Given the description of an element on the screen output the (x, y) to click on. 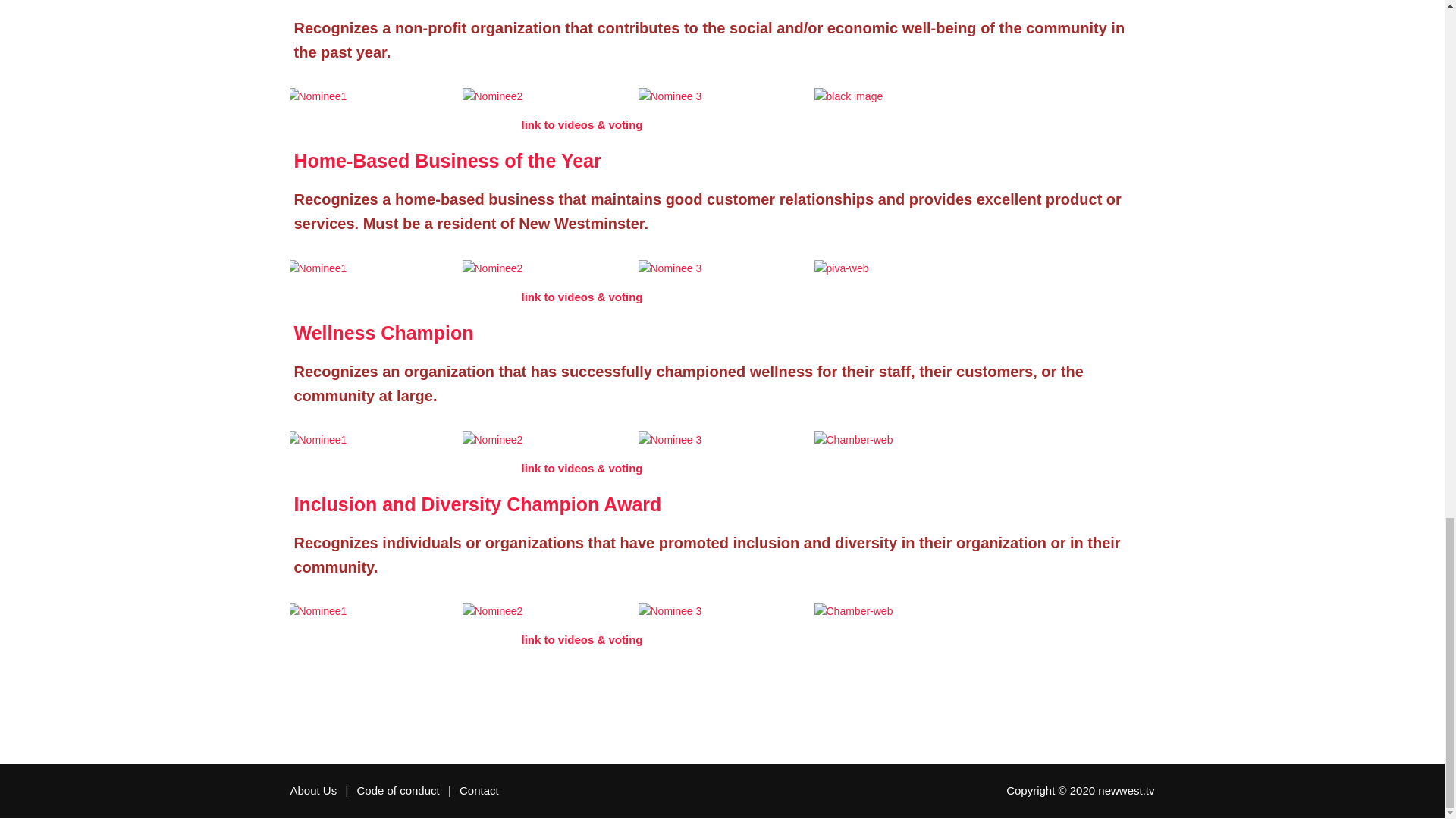
Share to X (740, 685)
Share to Facebook (703, 685)
